Given the description of an element on the screen output the (x, y) to click on. 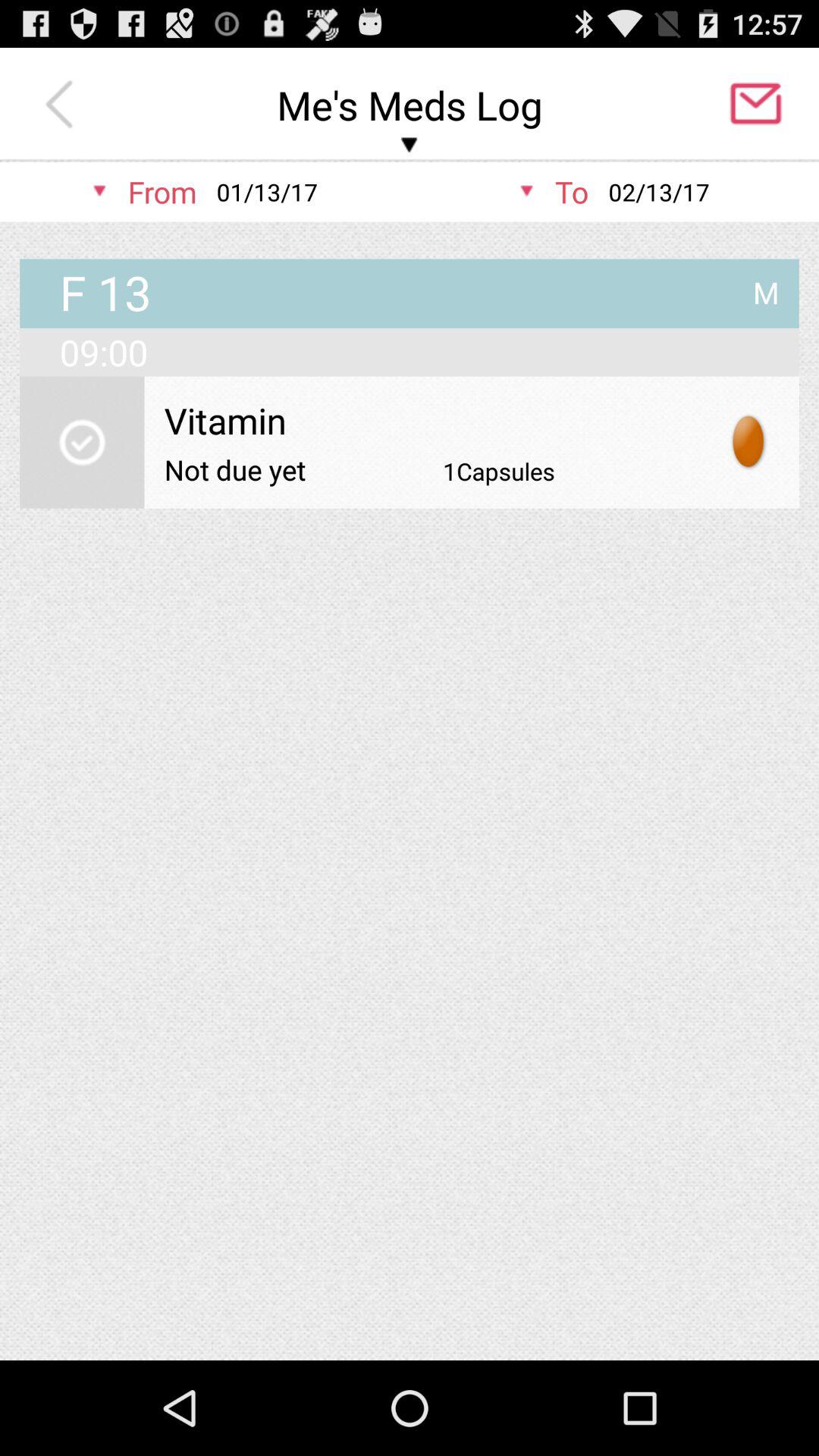
choose app below 09:00 item (81, 442)
